Given the description of an element on the screen output the (x, y) to click on. 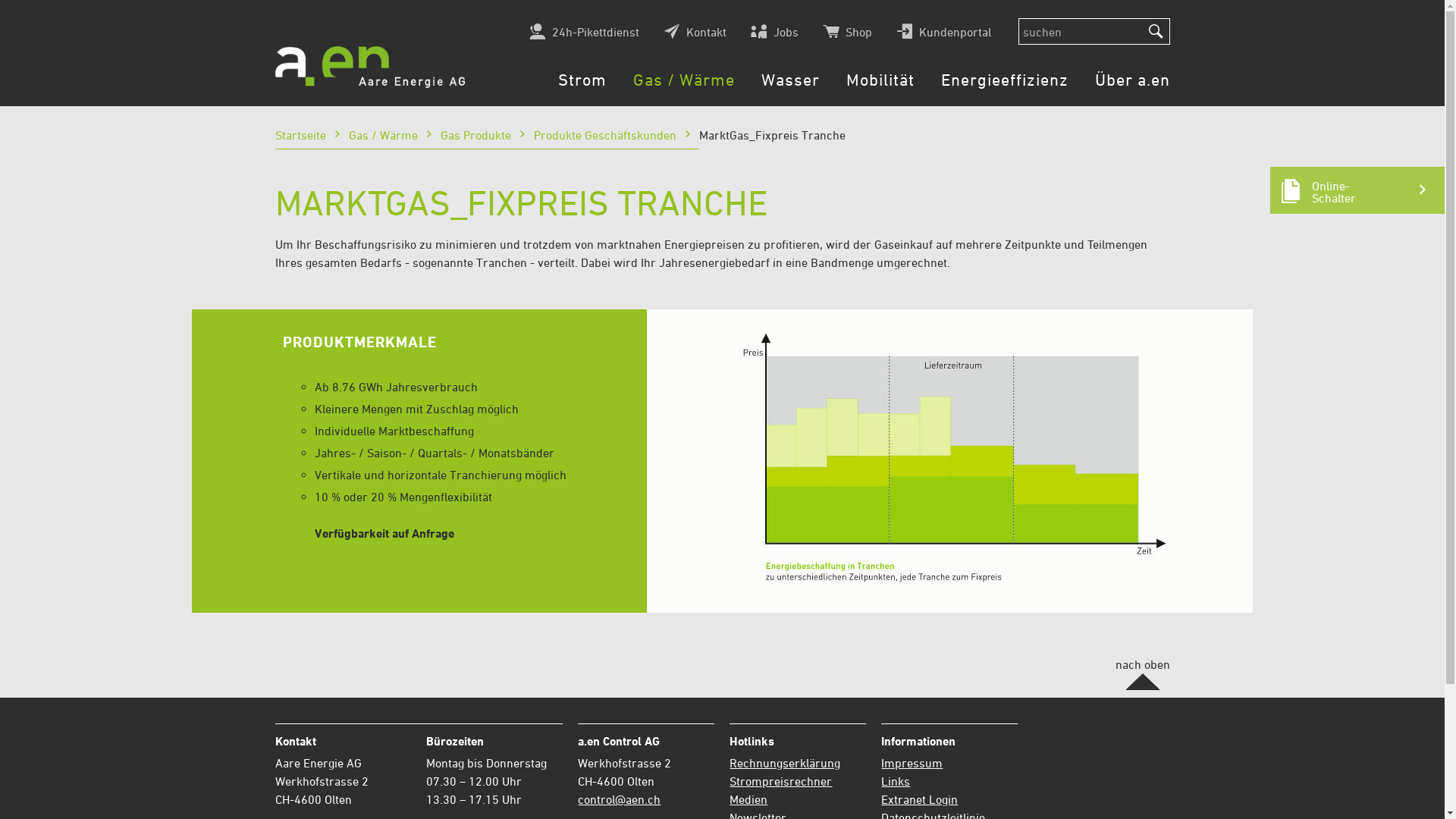
suchen Element type: hover (1155, 31)
Strom Element type: text (582, 88)
Wasser Element type: text (790, 88)
Medien Element type: text (748, 799)
Links Element type: text (895, 780)
nach oben Element type: text (1141, 672)
Impressum Element type: text (911, 762)
Strompreisrechner Element type: text (780, 780)
control@aen.ch Element type: text (618, 799)
Kontakt Element type: text (693, 30)
Kundenportal Element type: text (943, 30)
Gas Produkte Element type: text (486, 138)
Online-Schalter Element type: text (1357, 189)
Shop Element type: text (846, 30)
Energieeffizienz Element type: text (1003, 88)
Extranet Login Element type: text (919, 799)
Jobs Element type: text (774, 30)
24h-Pikettdienst Element type: text (584, 30)
Aare Energie AG Element type: hover (369, 66)
Startseite Element type: text (311, 138)
